Given the description of an element on the screen output the (x, y) to click on. 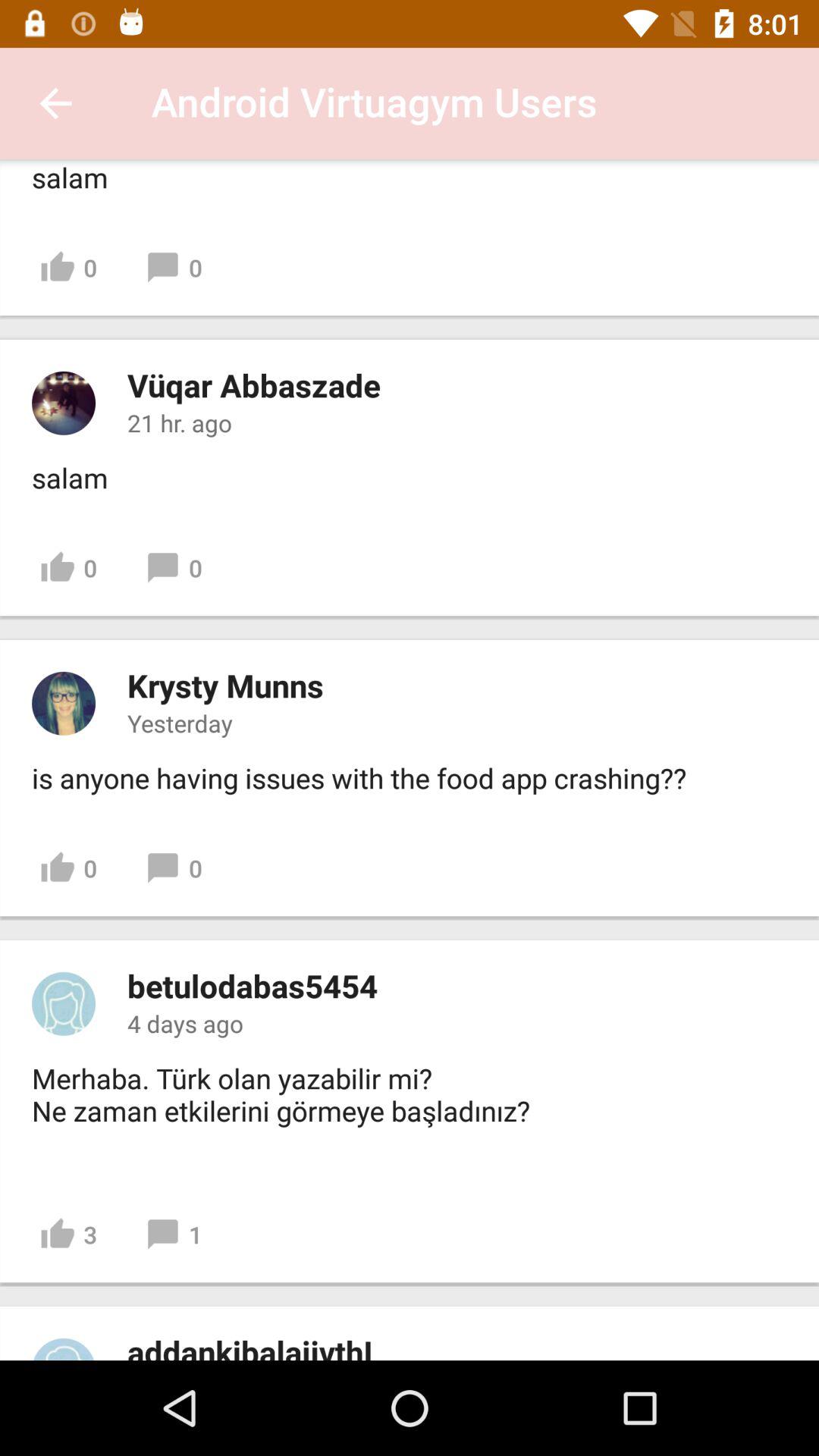
go to person 's profile (63, 703)
